Given the description of an element on the screen output the (x, y) to click on. 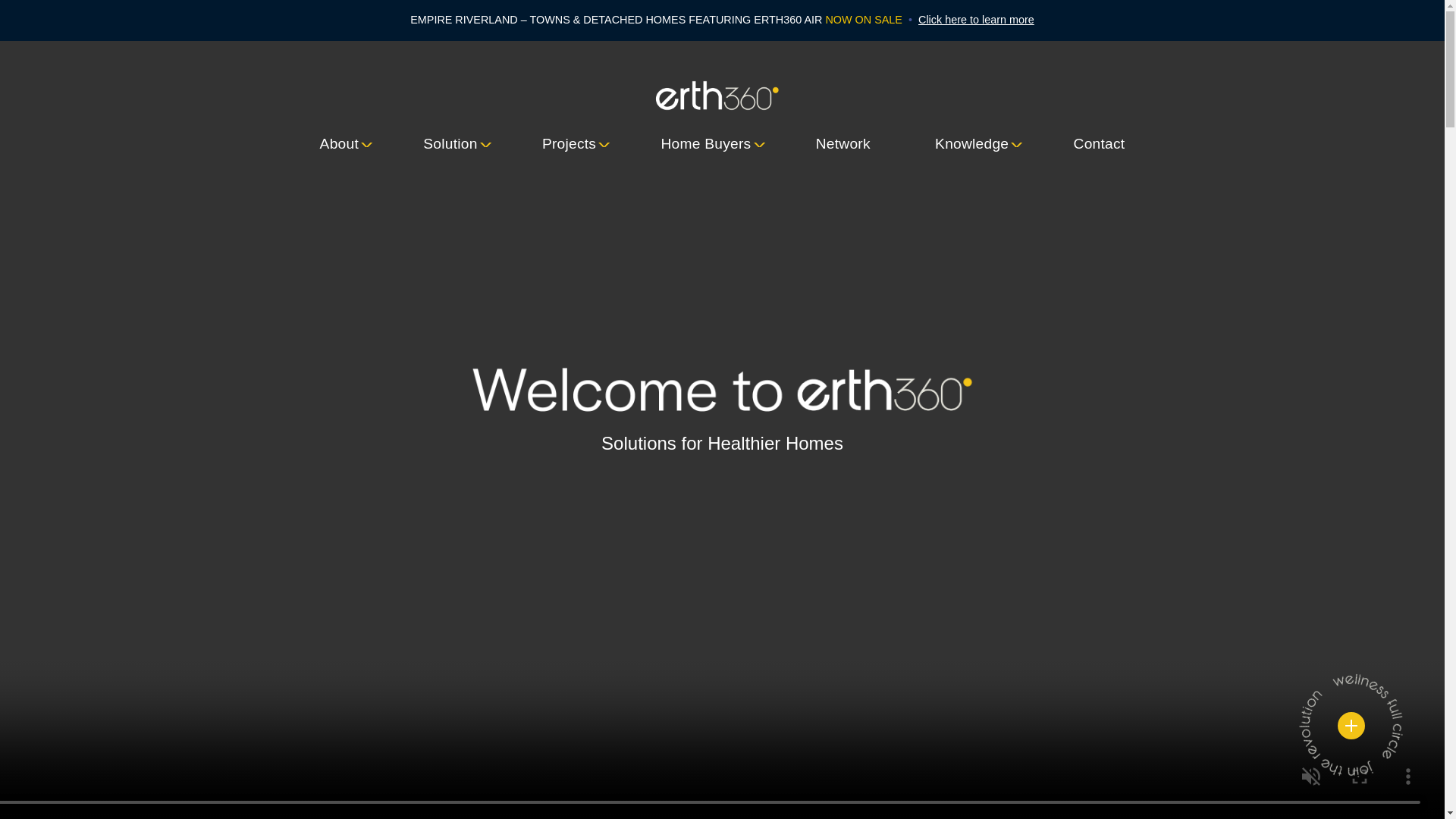
Home Buyers (704, 144)
Click here to learn more (975, 19)
Solution (449, 144)
Network (842, 144)
Projects (568, 144)
About (339, 144)
Knowledge (971, 144)
Contact (1099, 144)
